Given the description of an element on the screen output the (x, y) to click on. 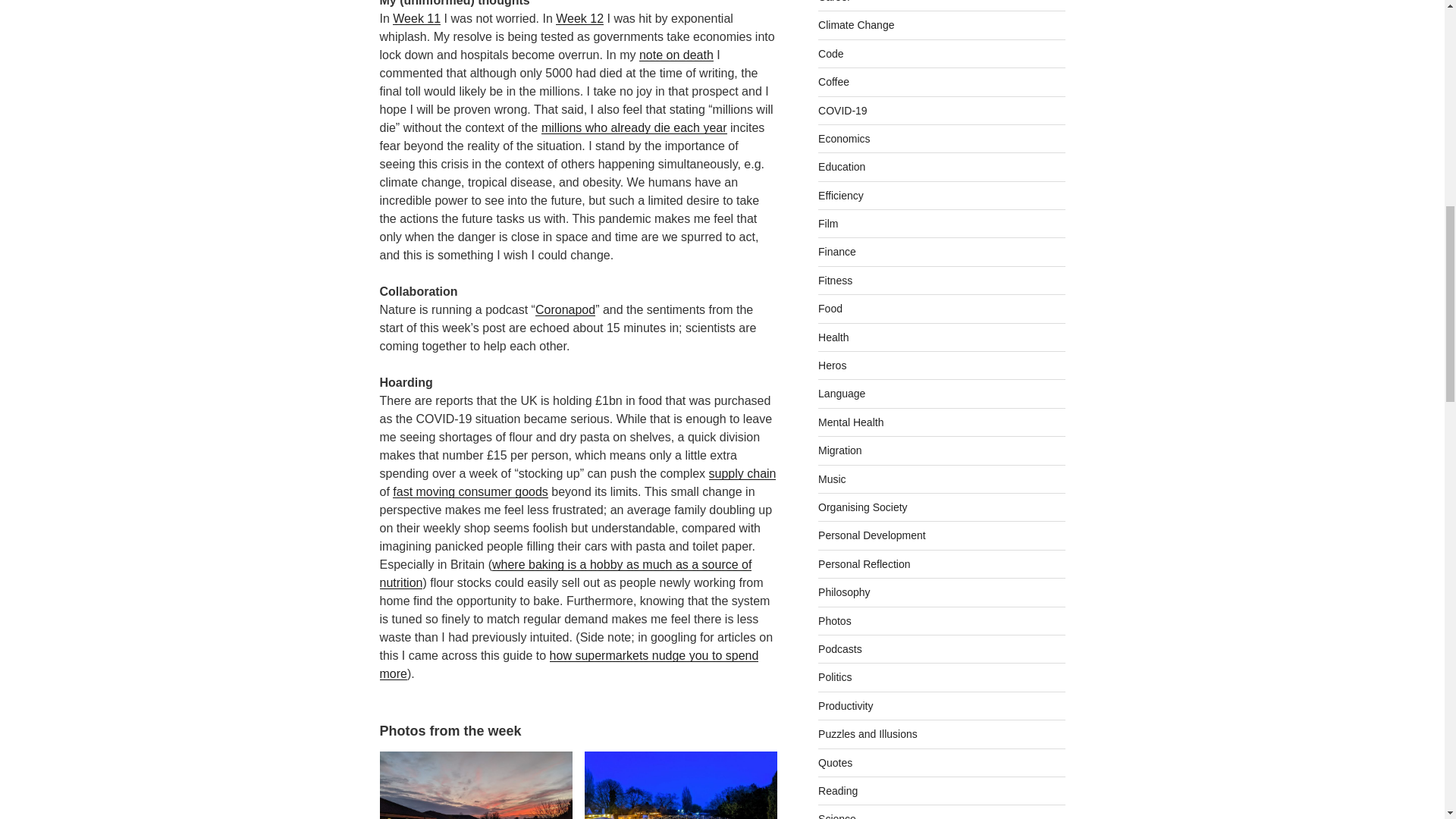
Coronapod (565, 309)
Week 11 (417, 18)
note on death (676, 54)
supply chain (742, 472)
Week 12 (580, 18)
millions who already die each year (633, 127)
fast moving consumer goods (470, 491)
